Given the description of an element on the screen output the (x, y) to click on. 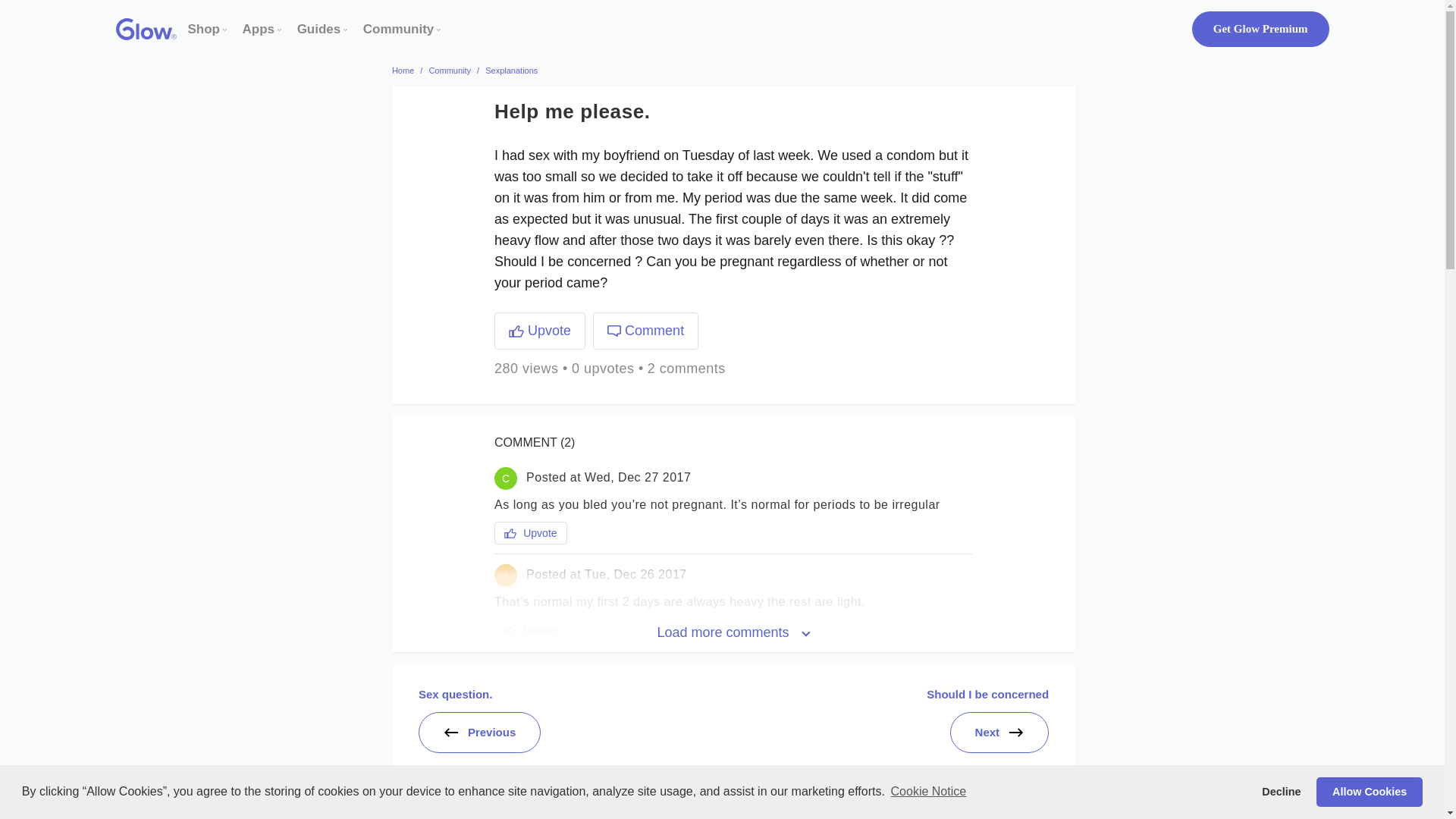
Shop (204, 28)
Apps (259, 28)
Glow Shop (204, 28)
Decline (1281, 791)
Allow Cookies (1369, 791)
Guides (318, 28)
Cookie Notice (928, 791)
Glow Community (397, 28)
